Given the description of an element on the screen output the (x, y) to click on. 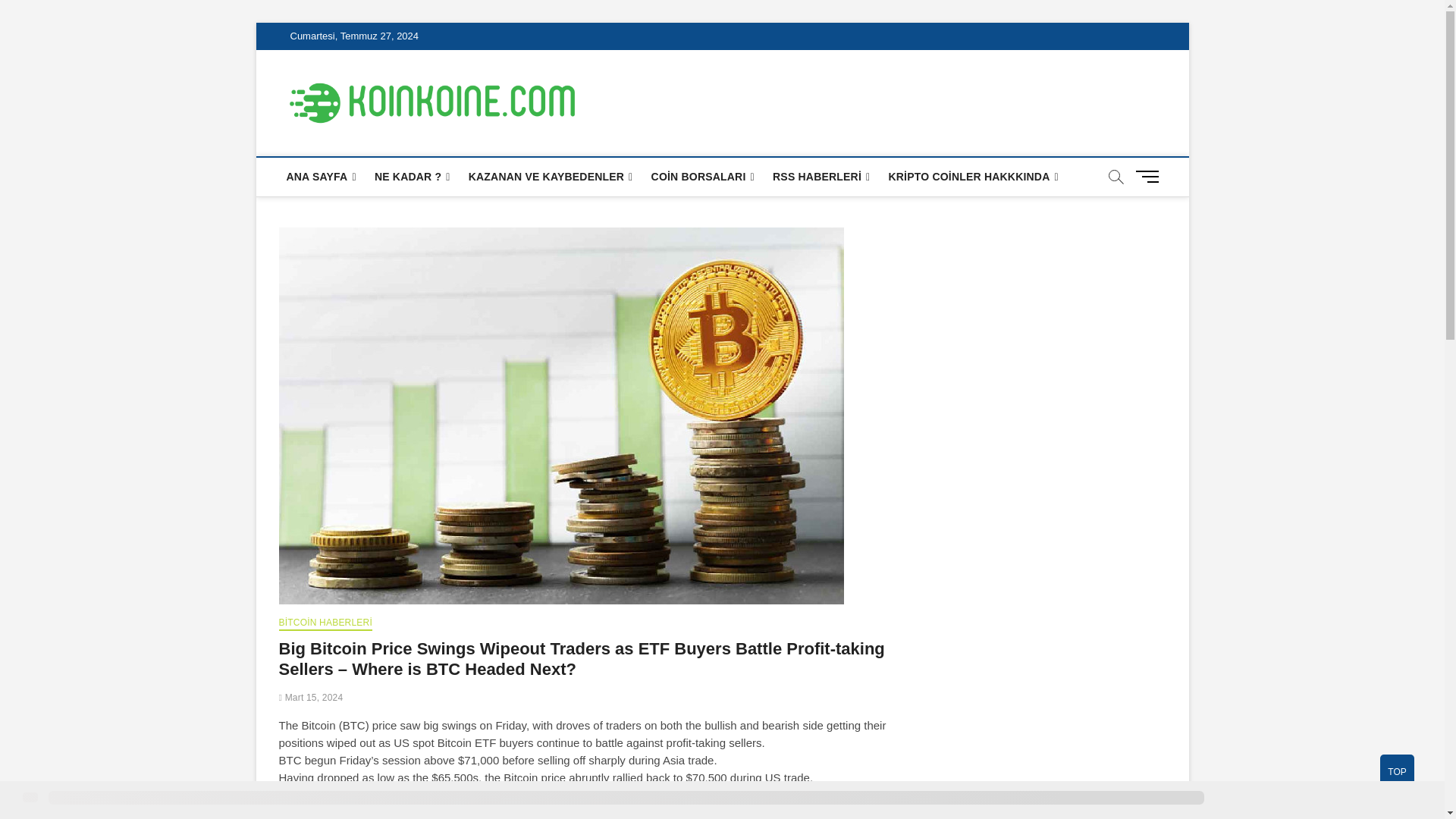
KoinKoine.com (669, 100)
COIN BORSALARI (702, 177)
KoinKoine.com (669, 100)
ANA SAYFA (321, 177)
NE KADAR ? (412, 177)
RSS HABERLERI (821, 177)
Mart 15, 2024 (311, 697)
KAZANAN VE KAYBEDENLER (550, 177)
